Given the description of an element on the screen output the (x, y) to click on. 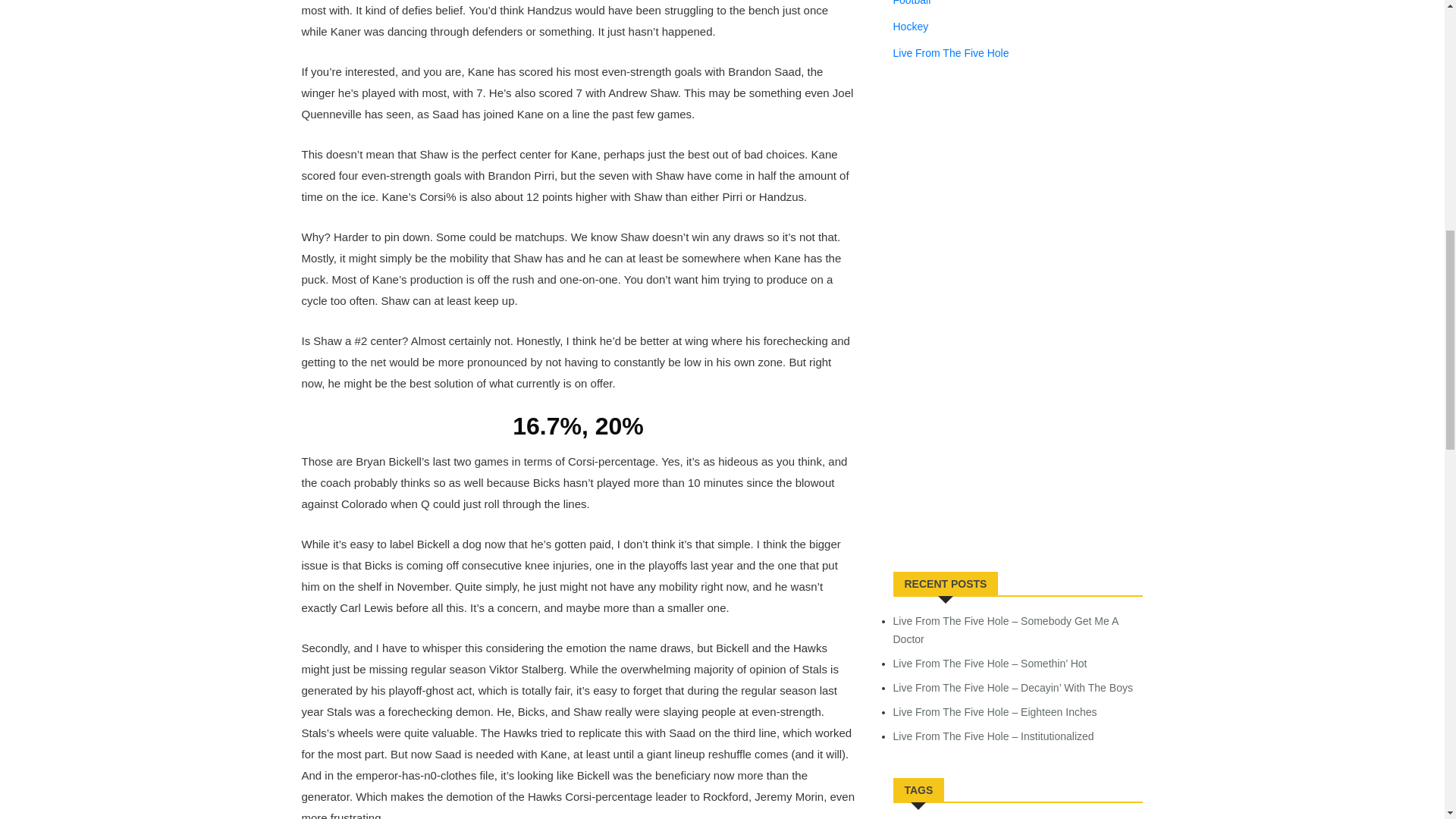
Hockey (910, 26)
Football (912, 4)
Live From The Five Hole (951, 53)
